Given the description of an element on the screen output the (x, y) to click on. 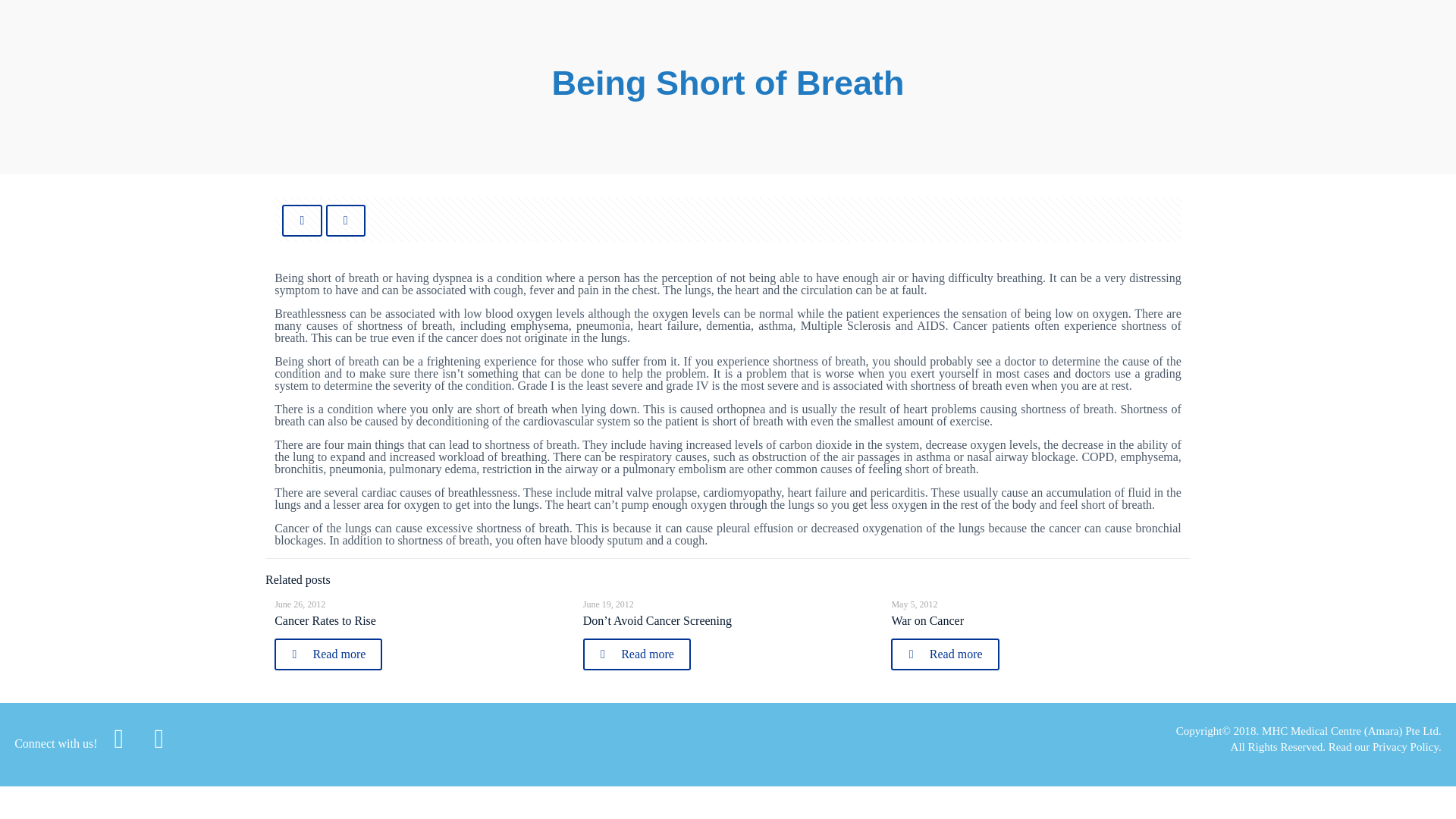
Read more (328, 654)
Cancer Rates to Rise (325, 620)
Read more (636, 654)
Privacy Policy (1405, 746)
War on Cancer (927, 620)
Read more (944, 654)
